Given the description of an element on the screen output the (x, y) to click on. 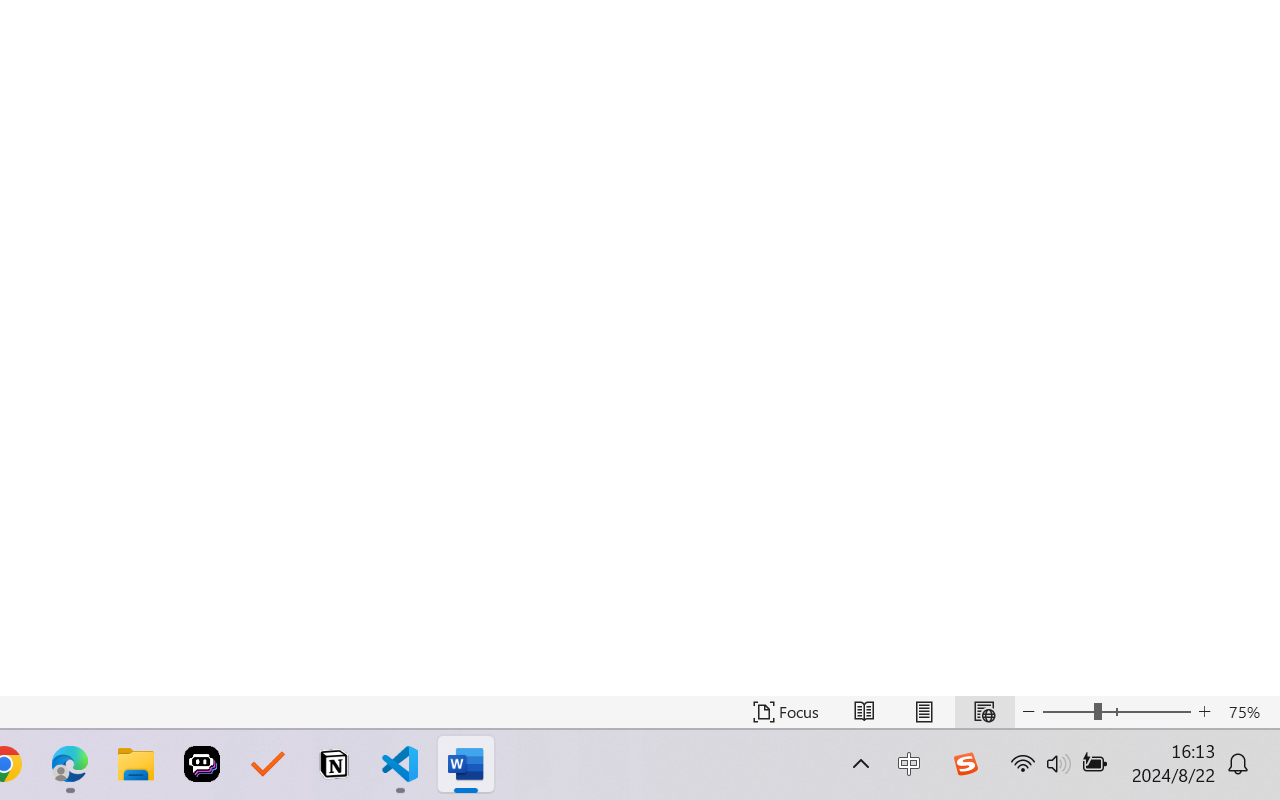
Zoom (1116, 712)
